Given the description of an element on the screen output the (x, y) to click on. 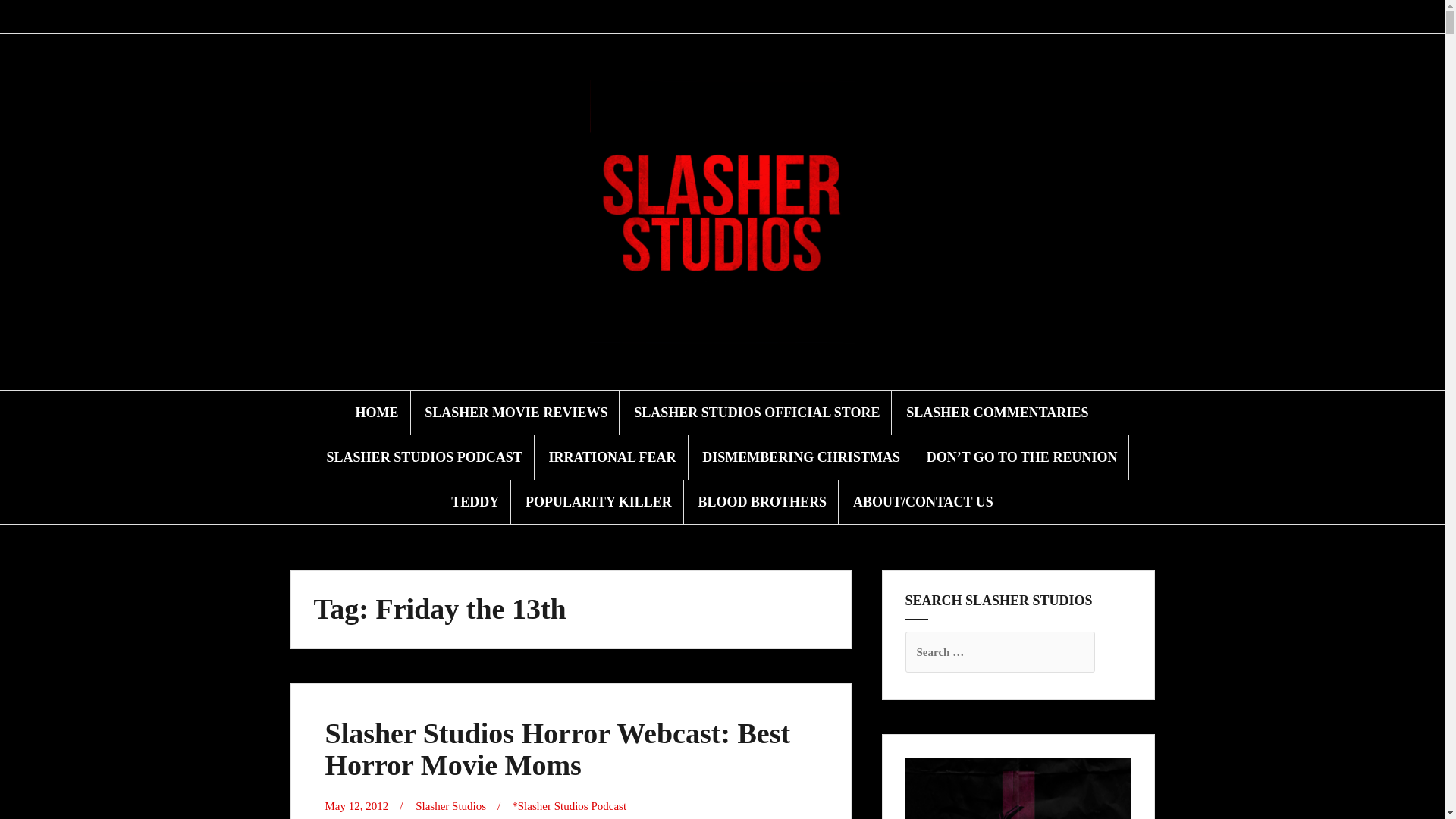
Slasher Studios Horror Webcast: Best Horror Movie Moms (557, 749)
TEDDY (475, 502)
SLASHER STUDIOS OFFICIAL STORE (756, 413)
Slasher Commentaries (676, 16)
Slasher Movie Reviews (641, 16)
Blood Brothers (802, 16)
DISMEMBERING CHRISTMAS (800, 457)
Slasher Studios Official Store (658, 16)
IRRATIONAL FEAR (611, 457)
Irrational Fear (713, 16)
POPULARITY KILLER (598, 502)
Teddy (767, 16)
Home (622, 16)
SLASHER STUDIOS PODCAST (424, 457)
Dismembering Christmas (730, 16)
